Given the description of an element on the screen output the (x, y) to click on. 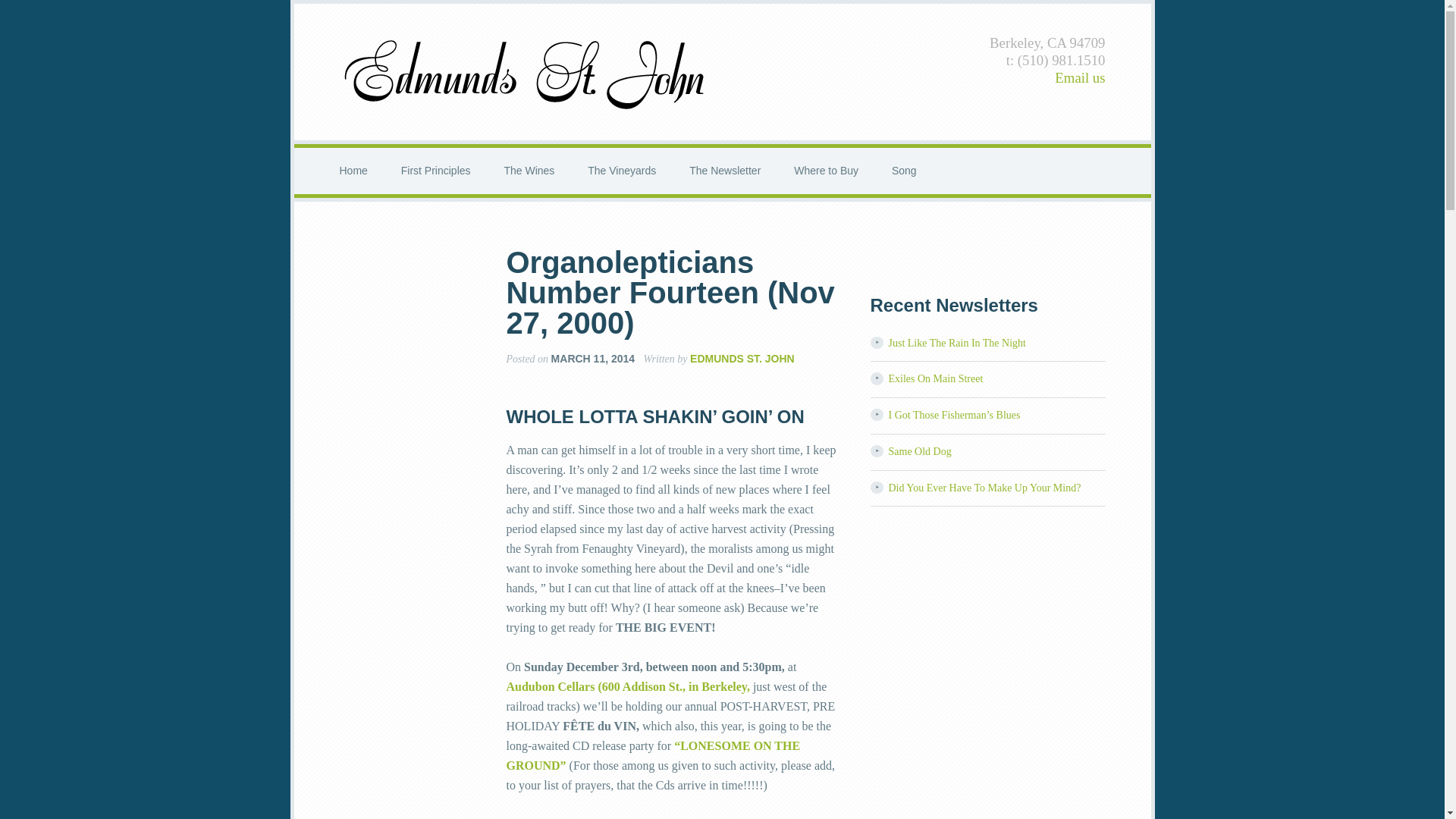
The Newsletter (725, 171)
Edmunds St. John (526, 71)
First Principles (435, 171)
The Vineyards (621, 171)
Home (353, 171)
Email us (1079, 77)
Where to Buy (825, 171)
Song (903, 171)
Exiles On Main Street (936, 378)
Same Old Dog (920, 451)
EDMUNDS ST. JOHN (742, 358)
Did You Ever Have To Make Up Your Mind? (984, 487)
The Wines (528, 171)
Just Like The Rain In The Night (957, 342)
